Given the description of an element on the screen output the (x, y) to click on. 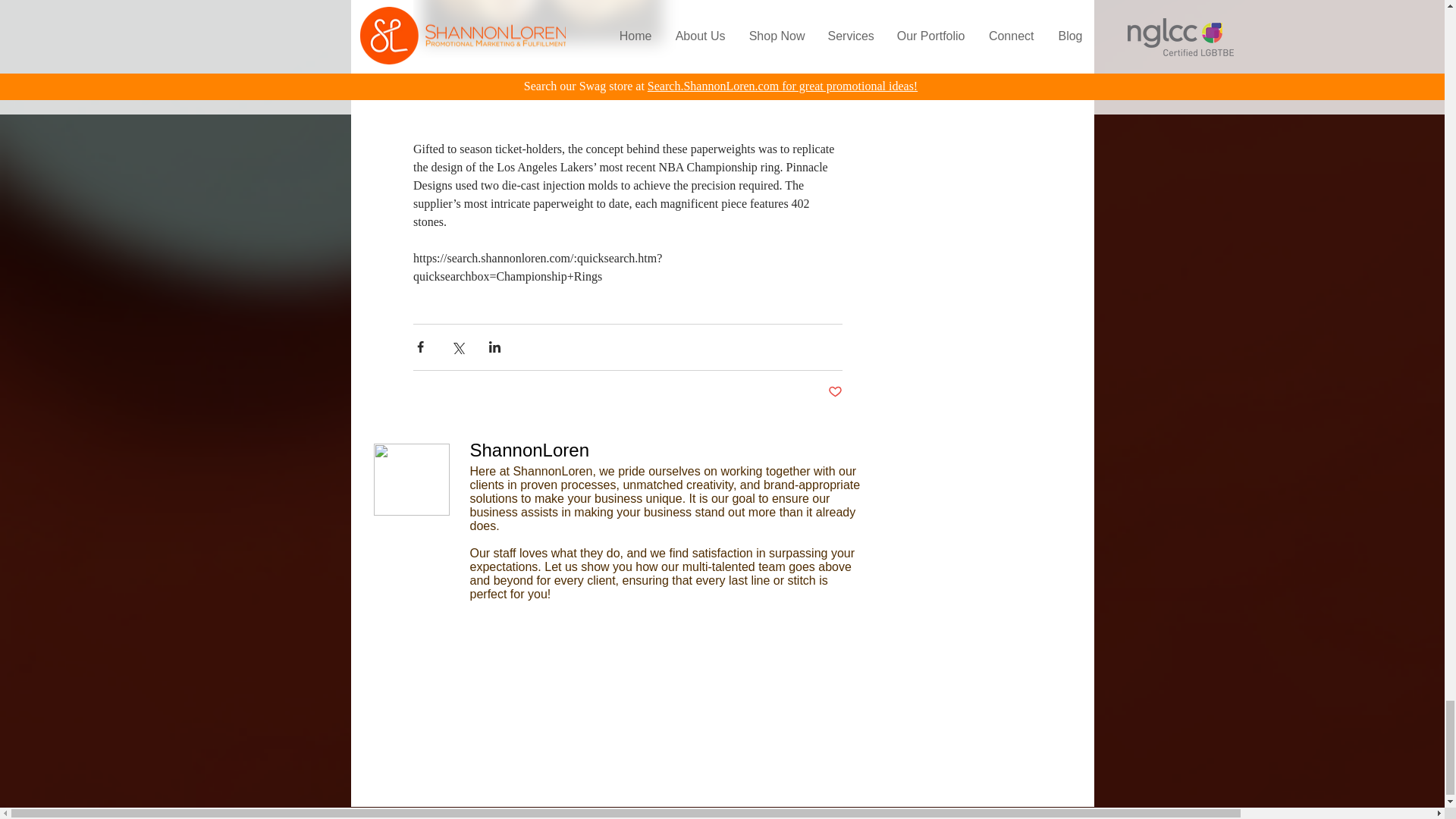
Post not marked as liked (835, 392)
